Given the description of an element on the screen output the (x, y) to click on. 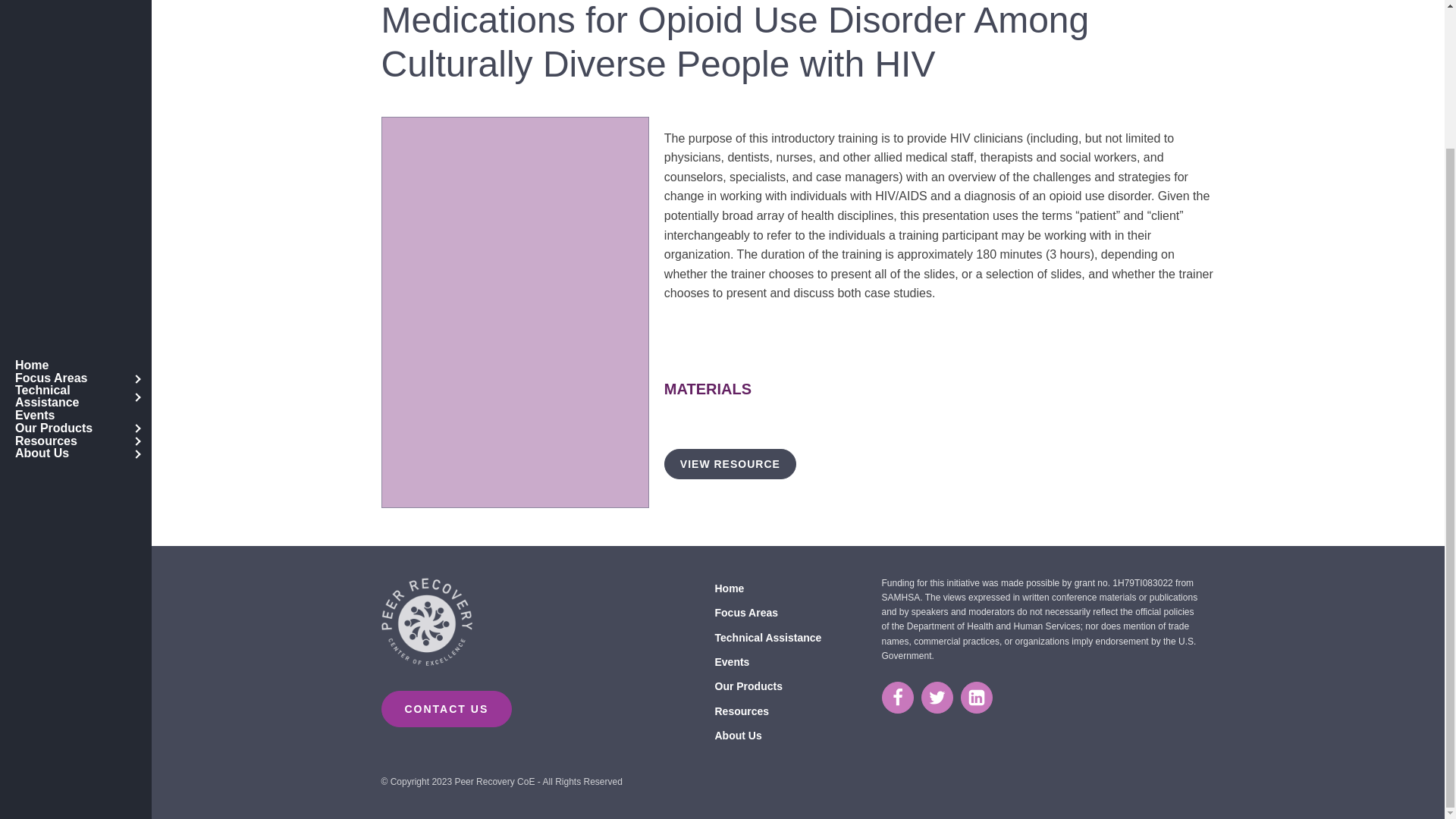
Focus Areas (75, 206)
Home (75, 195)
About Us (75, 282)
Events (75, 244)
Technical Assistance (75, 225)
Resources (75, 269)
Our Products (75, 256)
